Given the description of an element on the screen output the (x, y) to click on. 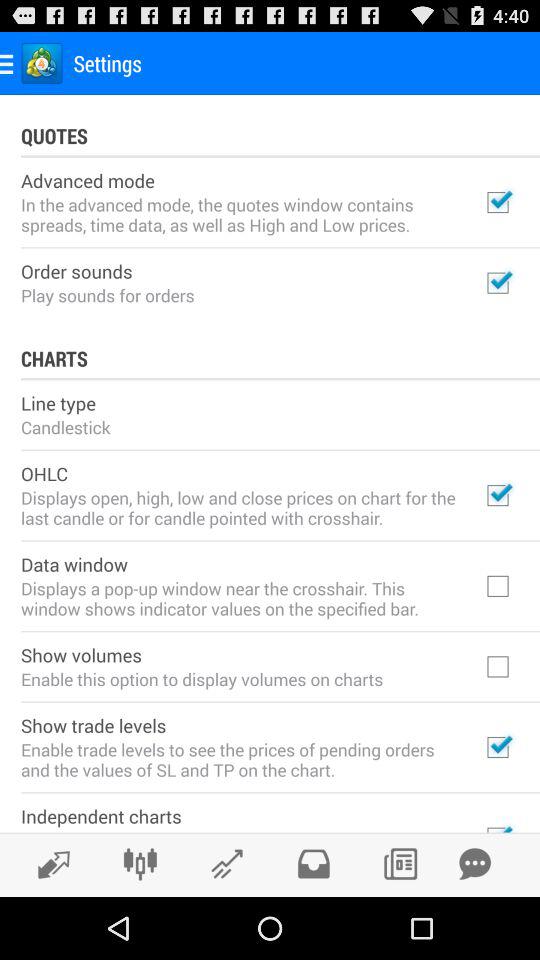
plug in (140, 863)
